Given the description of an element on the screen output the (x, y) to click on. 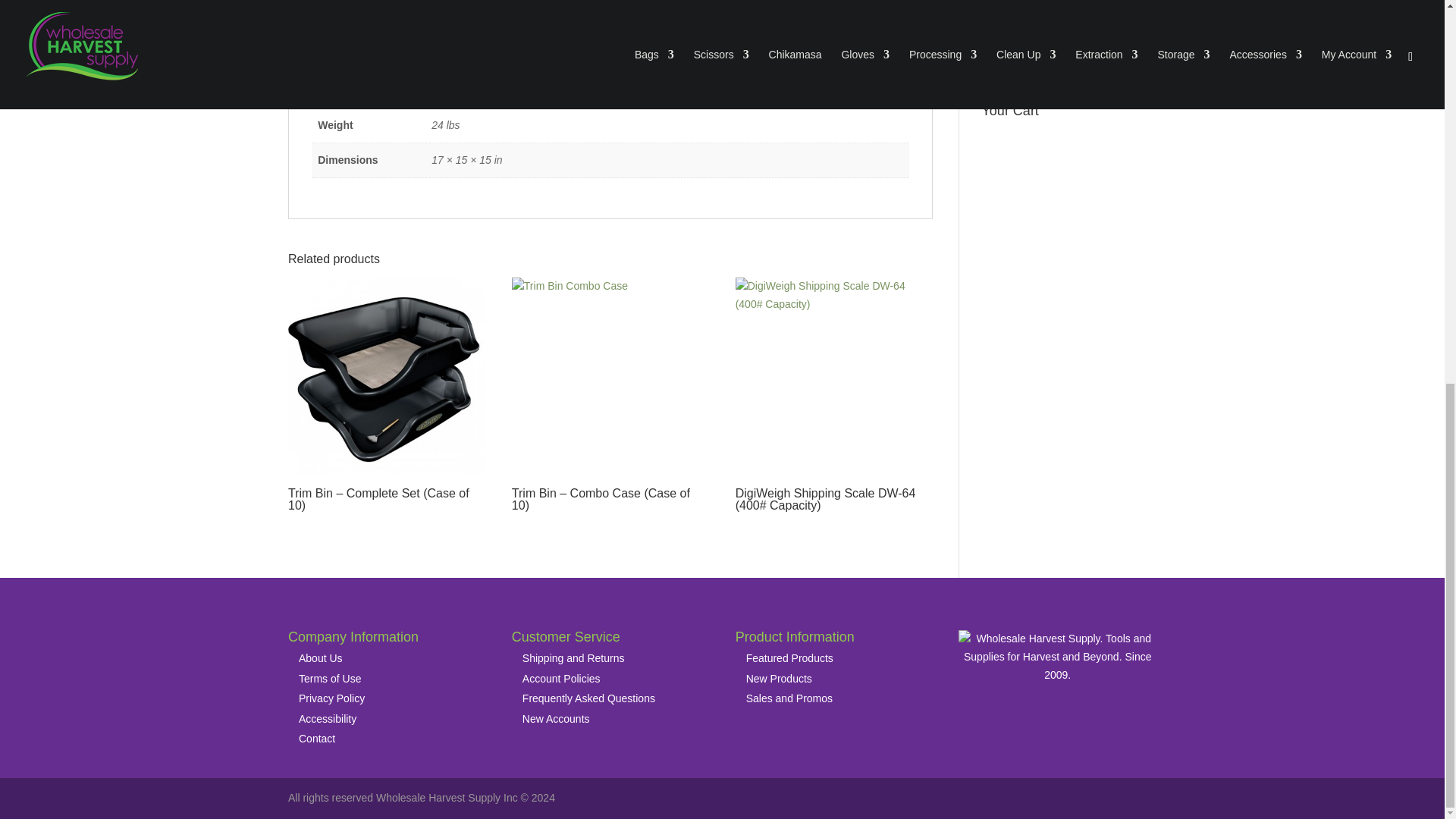
SYMBYS Vacuum Bags from Wholesale Harvest Supply (1068, 63)
